Given the description of an element on the screen output the (x, y) to click on. 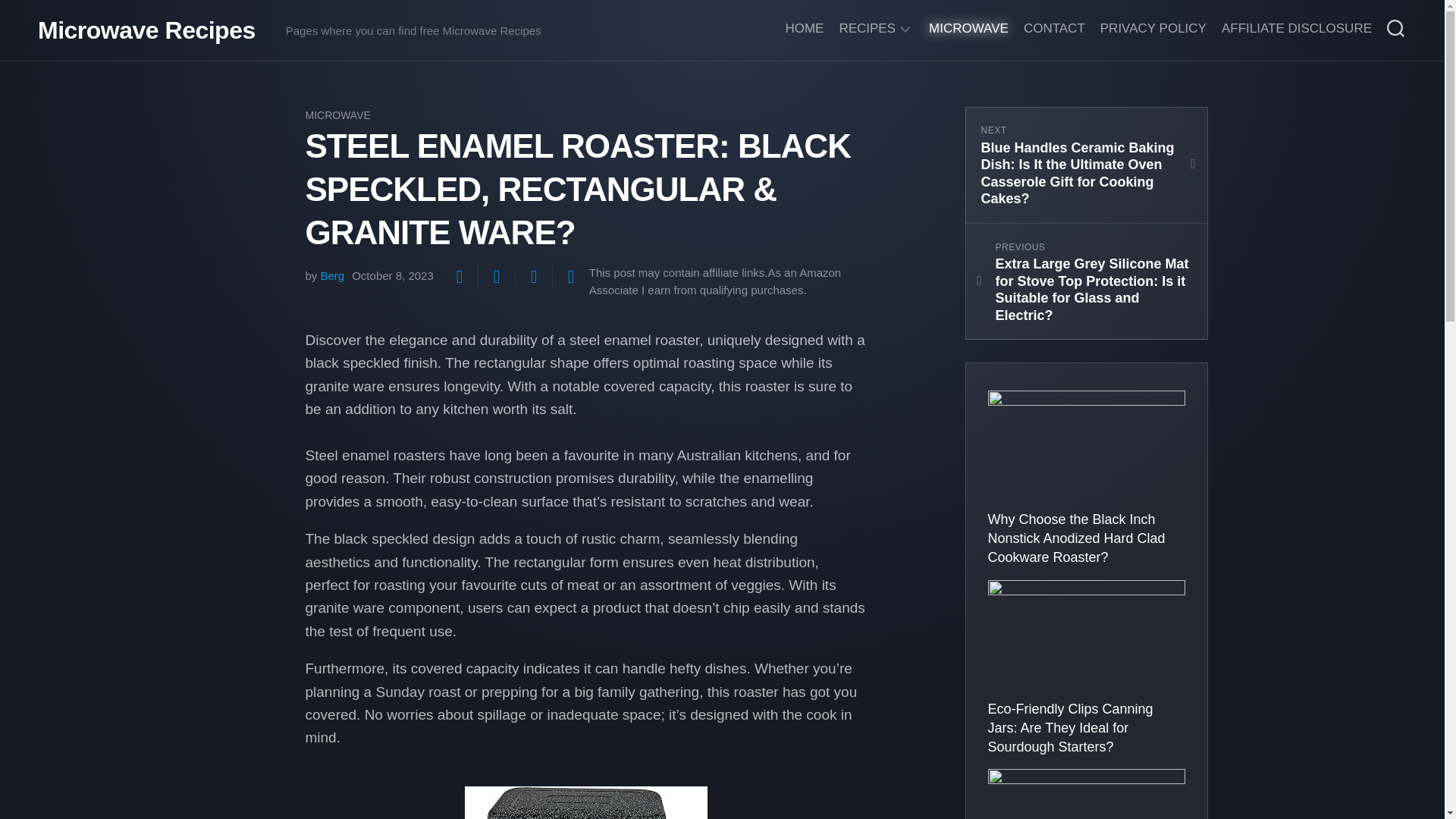
Microwave Recipes (146, 30)
Berg (332, 275)
PRIVACY POLICY (1153, 28)
Share on LinkedIn (570, 276)
MICROWAVE (968, 28)
Share on X (459, 276)
RECIPES (866, 28)
HOME (804, 28)
